Given the description of an element on the screen output the (x, y) to click on. 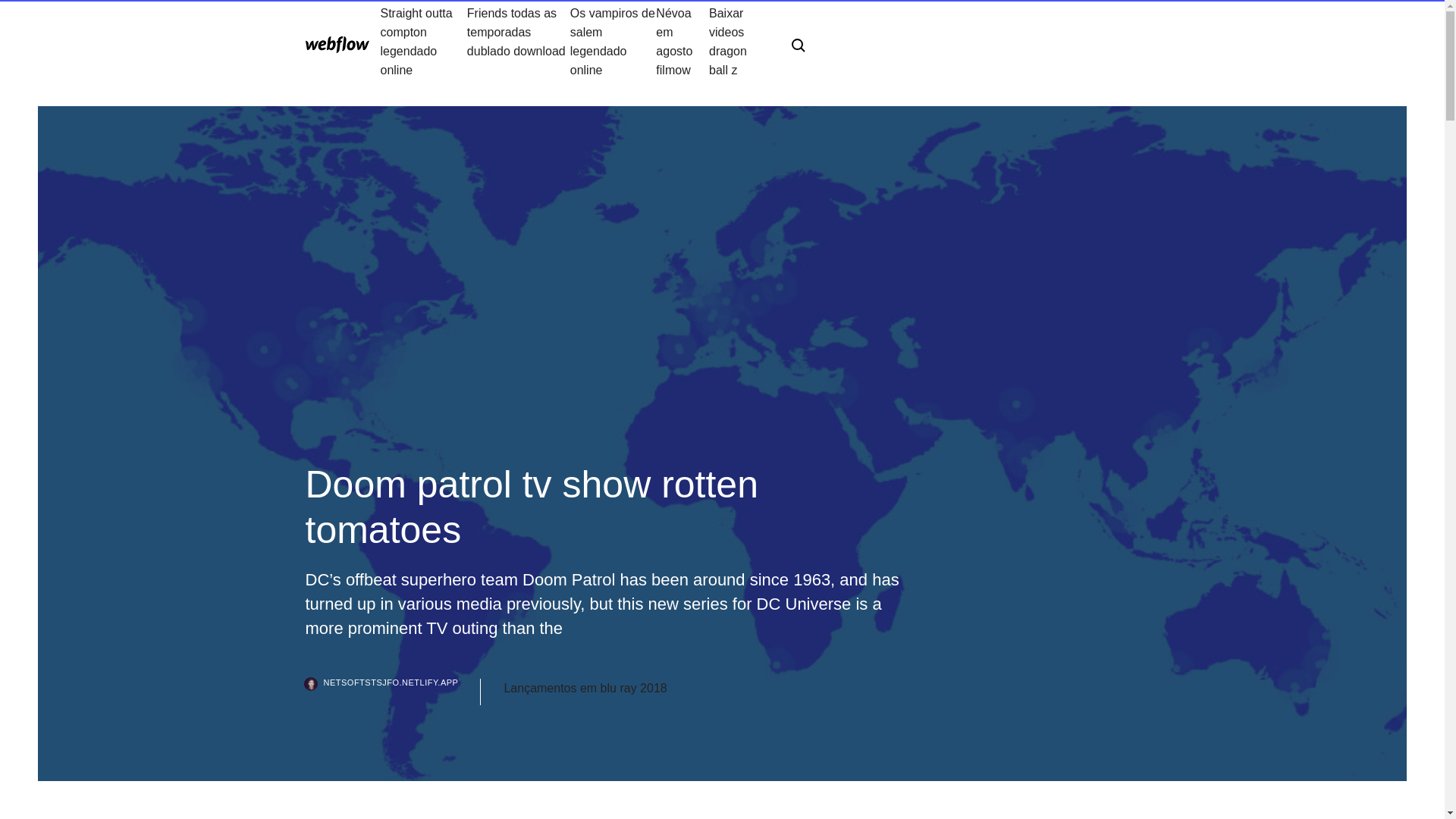
Friends todas as temporadas dublado download (518, 41)
NETSOFTSTSJFO.NETLIFY.APP (392, 691)
Os vampiros de salem legendado online (613, 41)
Straight outta compton legendado online (423, 41)
